Given the description of an element on the screen output the (x, y) to click on. 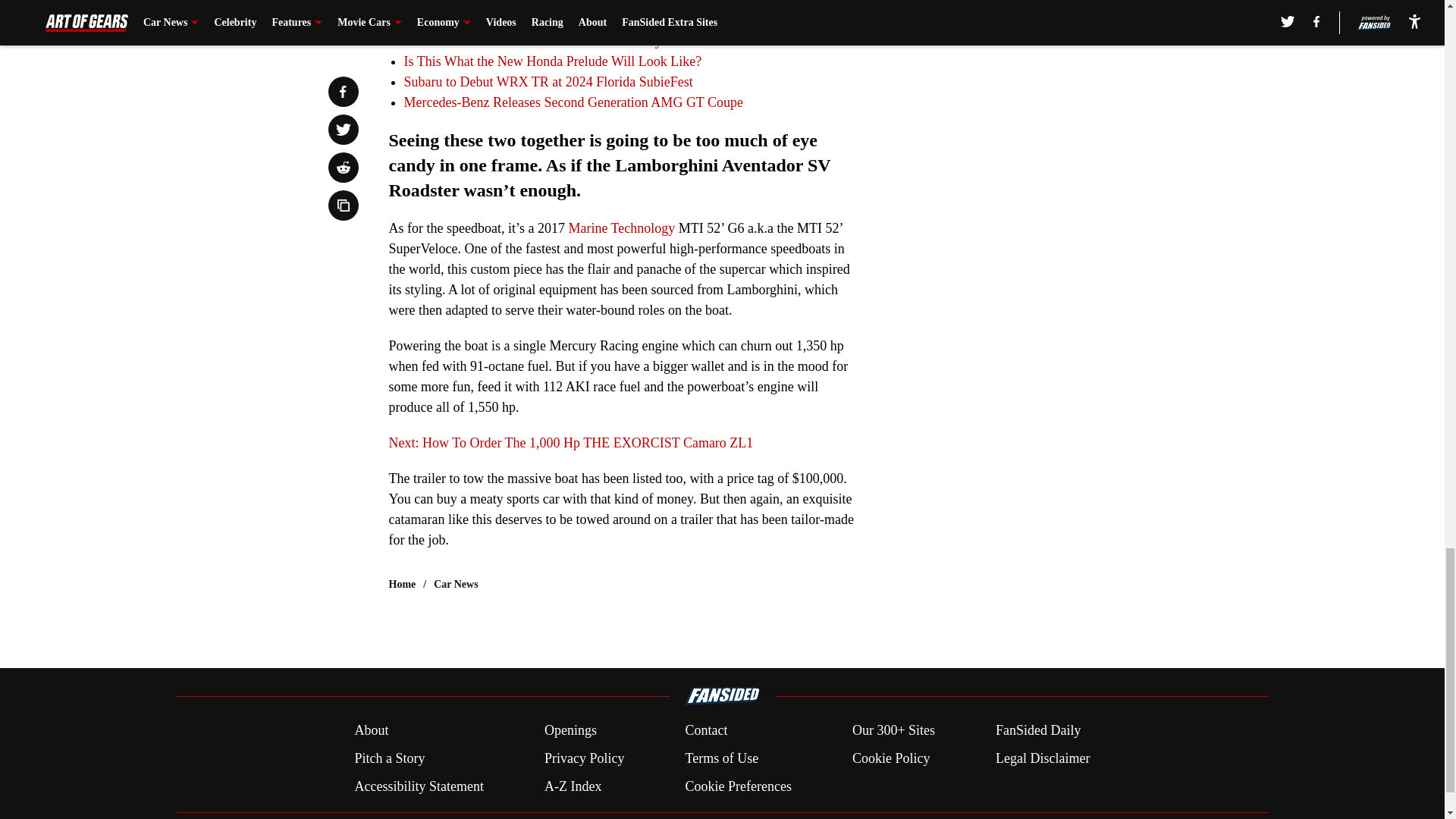
Is This What the New Honda Prelude Will Look Like? (552, 61)
Mercedes-Benz Releases Second Generation AMG GT Coupe (572, 102)
Subaru to Debut WRX TR at 2024 Florida SubieFest (548, 81)
Will We See A Mainstream Tesla Roadster Anytime Soon? (563, 40)
